Given the description of an element on the screen output the (x, y) to click on. 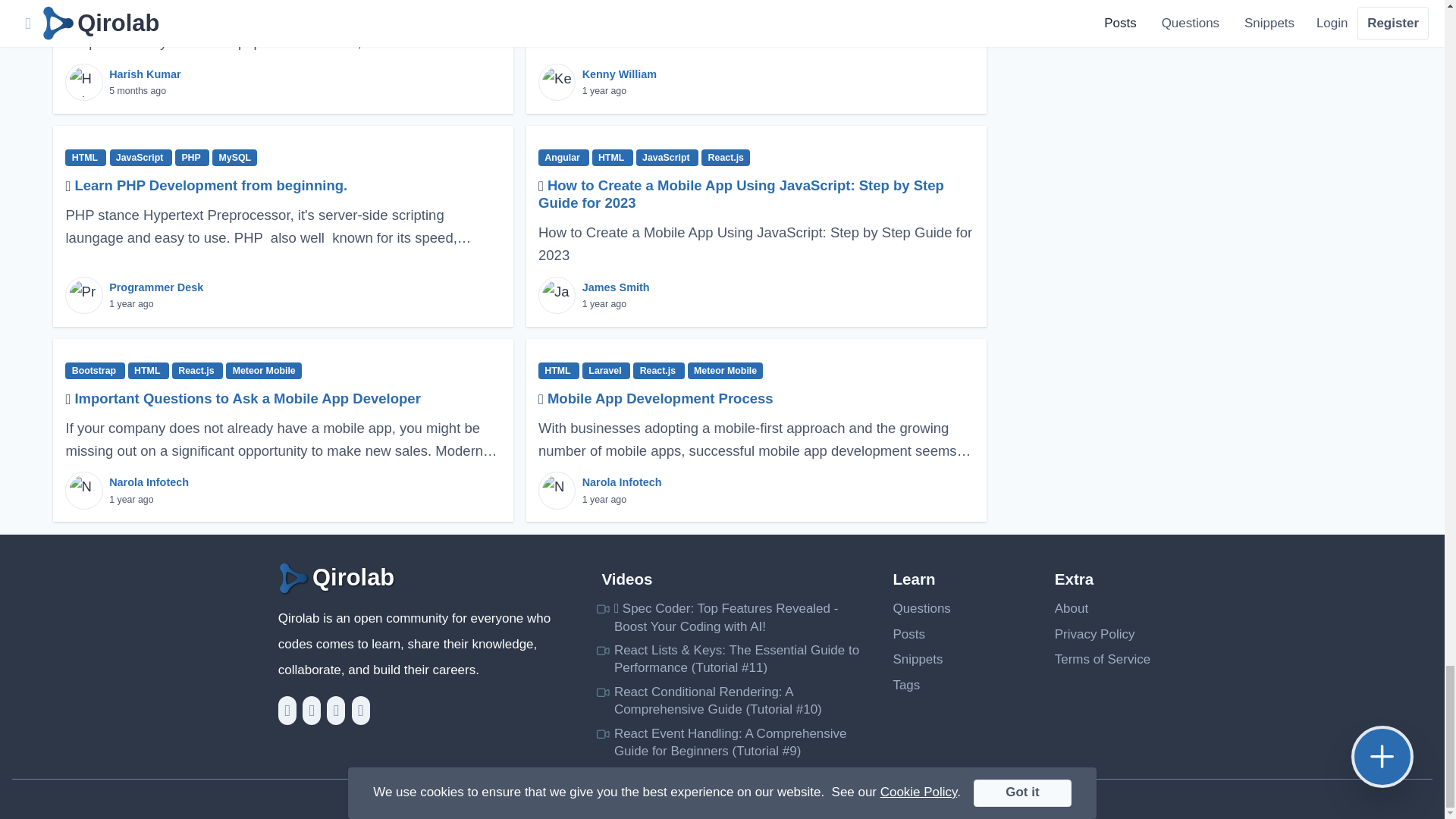
Kenny William (619, 73)
JavaScript (667, 157)
React.js (725, 157)
HTML (85, 157)
Learn PHP Development from beginning. (210, 185)
HTML (612, 157)
PHP (191, 157)
Angular (563, 157)
Programmer Desk (156, 287)
Harish Kumar (144, 73)
James Smith (615, 287)
MySQL (234, 157)
JavaScript (140, 157)
